Given the description of an element on the screen output the (x, y) to click on. 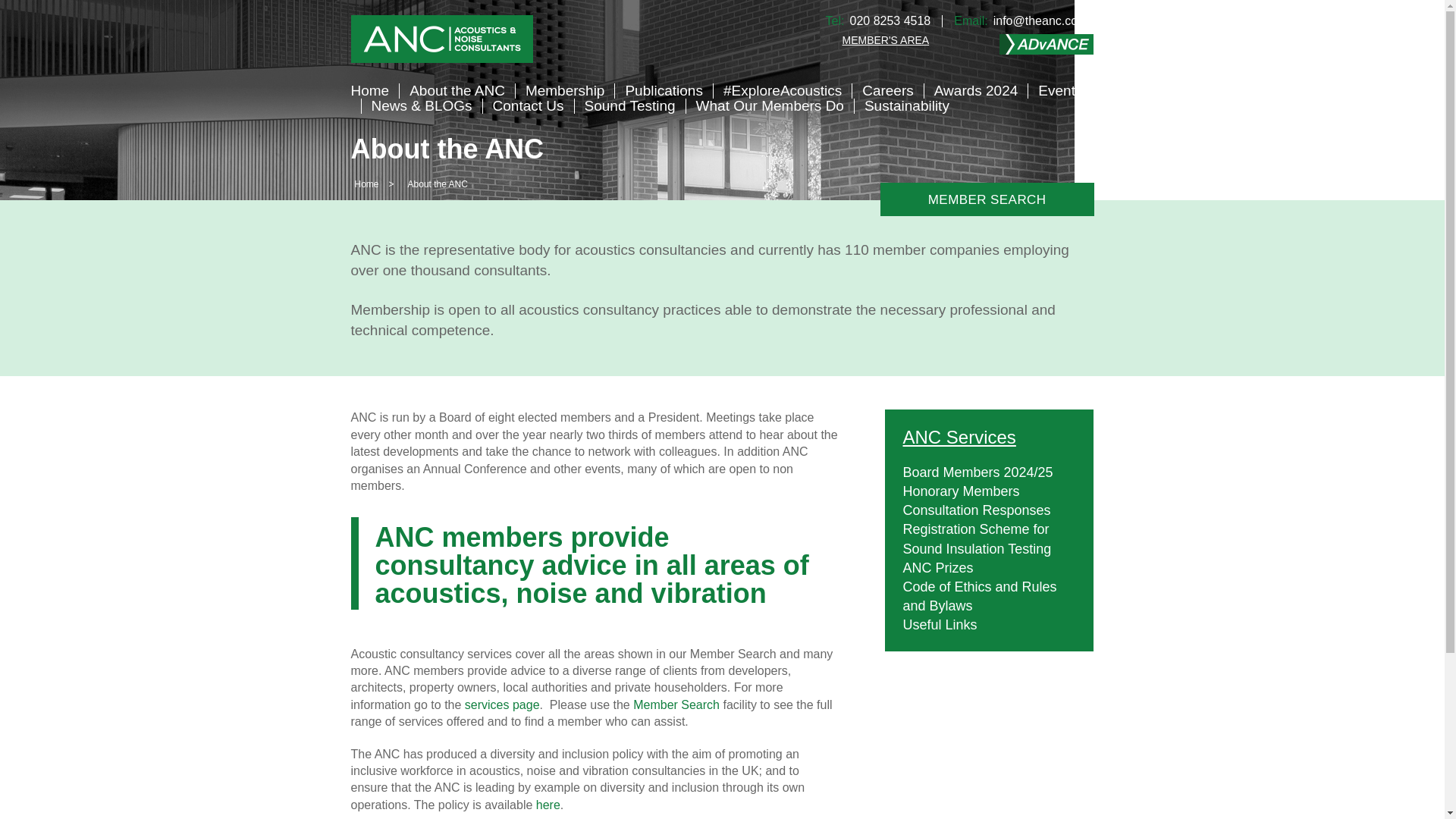
Publications (662, 90)
Member Search (677, 704)
Home (366, 184)
Careers (887, 90)
Sustainability (906, 105)
Home (369, 90)
Membership (565, 90)
Events (1059, 90)
MEMBER SEARCH (987, 199)
Sound Testing (630, 105)
